Given the description of an element on the screen output the (x, y) to click on. 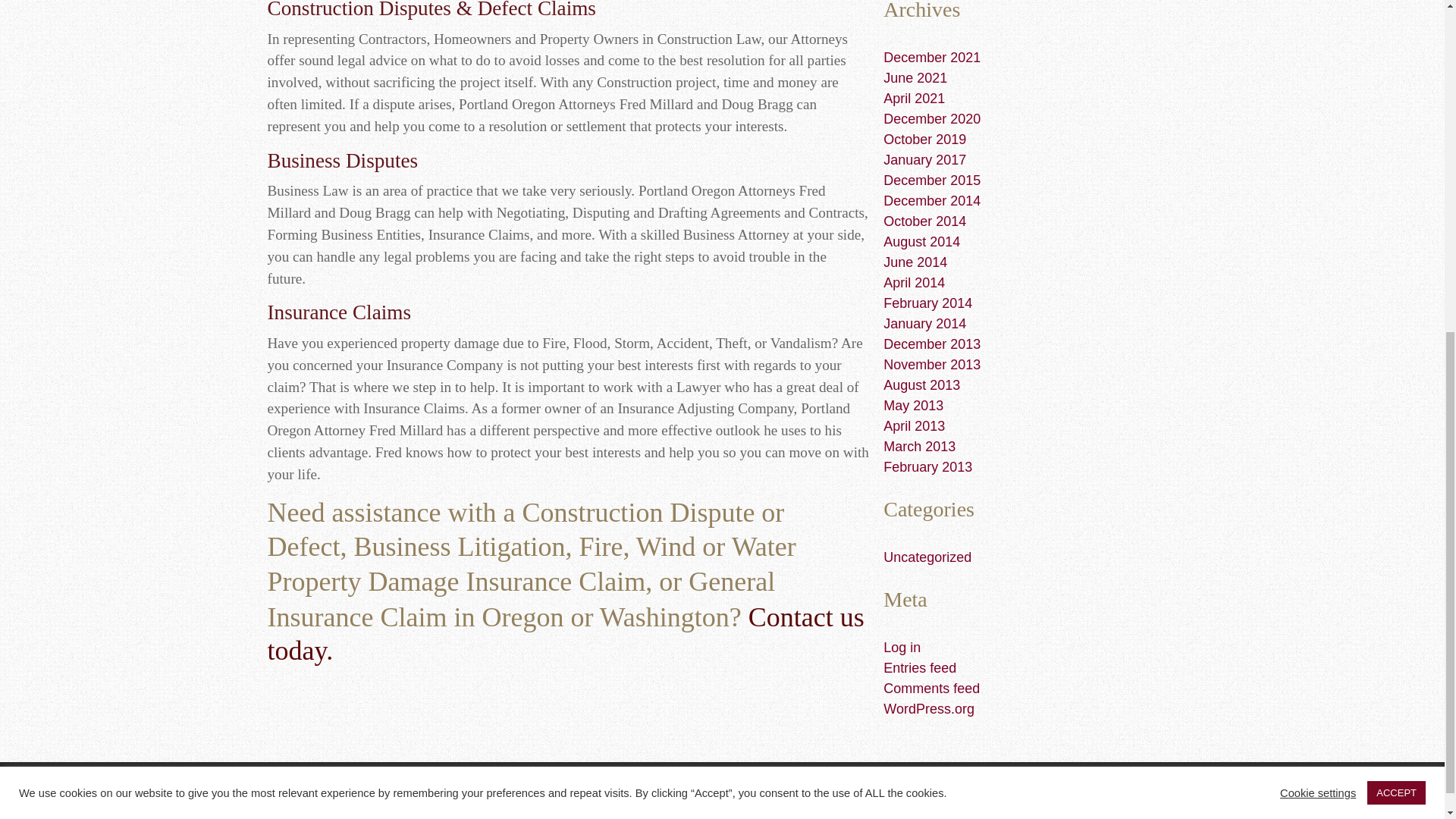
December 2020 (931, 118)
January 2017 (924, 159)
August 2014 (921, 241)
Contact us today. (564, 633)
June 2021 (915, 77)
April 2021 (913, 98)
December 2014 (931, 200)
December 2015 (931, 180)
December 2021 (931, 57)
October 2019 (924, 139)
October 2014 (924, 221)
